Given the description of an element on the screen output the (x, y) to click on. 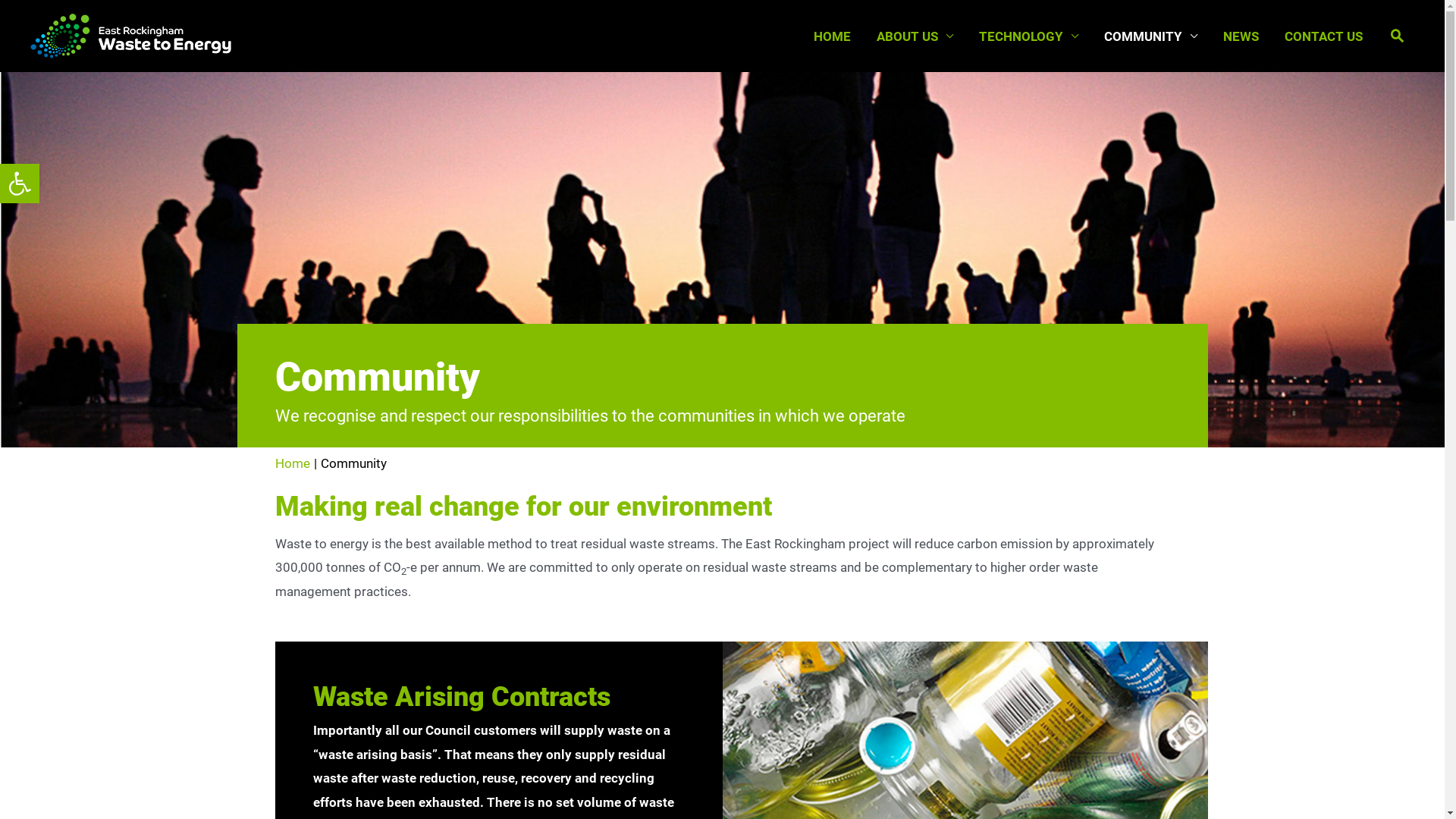
CONTACT US Element type: text (1323, 36)
NEWS Element type: text (1240, 36)
Open toolbar Element type: text (19, 183)
HOME Element type: text (831, 36)
Home Element type: text (291, 462)
COMMUNITY Element type: text (1150, 36)
ABOUT US Element type: text (914, 36)
TECHNOLOGY Element type: text (1028, 36)
